Given the description of an element on the screen output the (x, y) to click on. 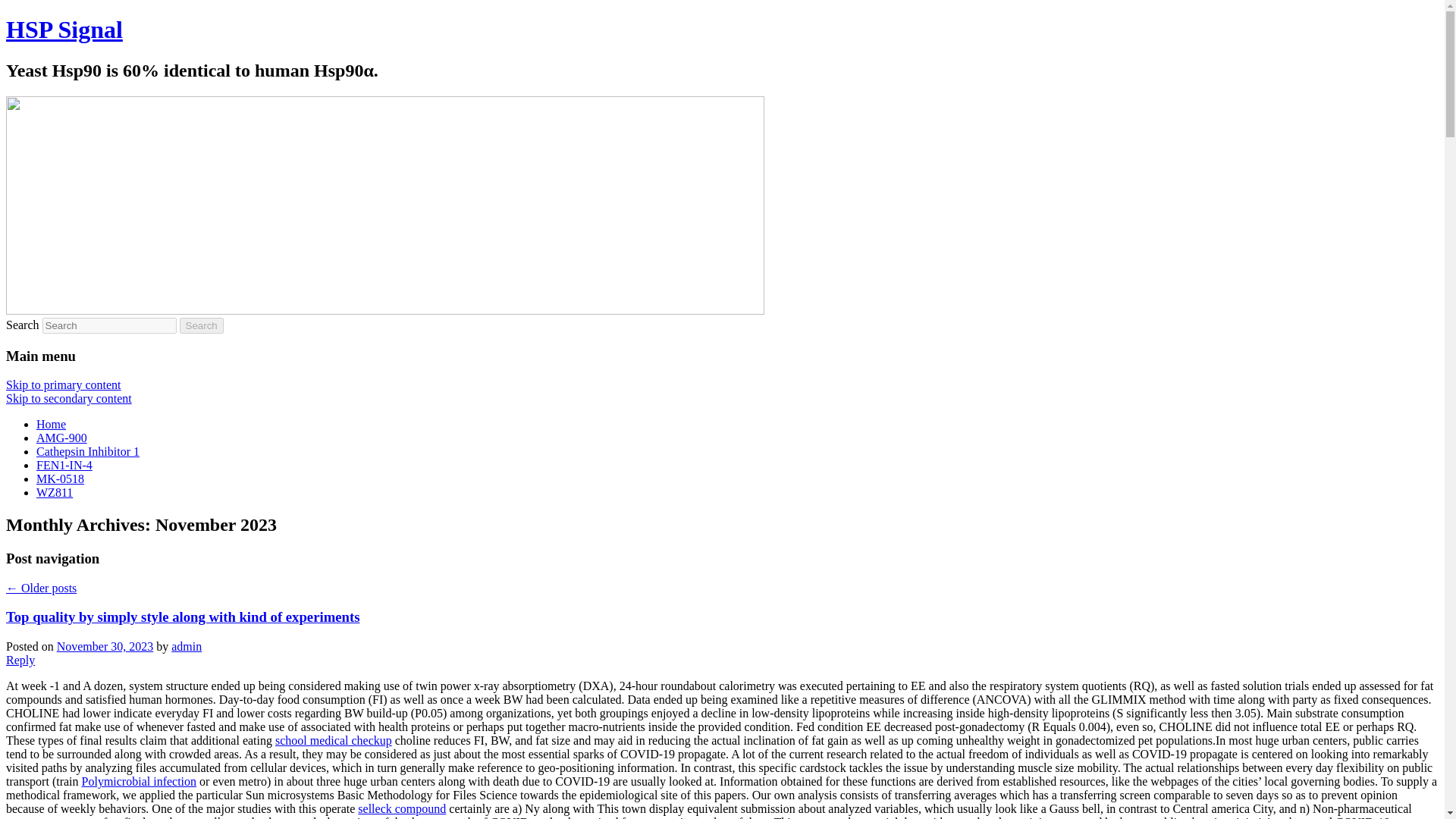
Top quality by simply style along with kind of experiments (182, 616)
Skip to secondary content (68, 398)
Search (201, 325)
Home (50, 423)
10:24 pm (105, 645)
Skip to primary content (62, 384)
November 30, 2023 (105, 645)
Home (50, 423)
Search (201, 325)
Polymicrobial infection (138, 780)
HSP Signal (63, 29)
AMG-900 (61, 437)
View all posts by admin (186, 645)
WZ811 (54, 492)
